Given the description of an element on the screen output the (x, y) to click on. 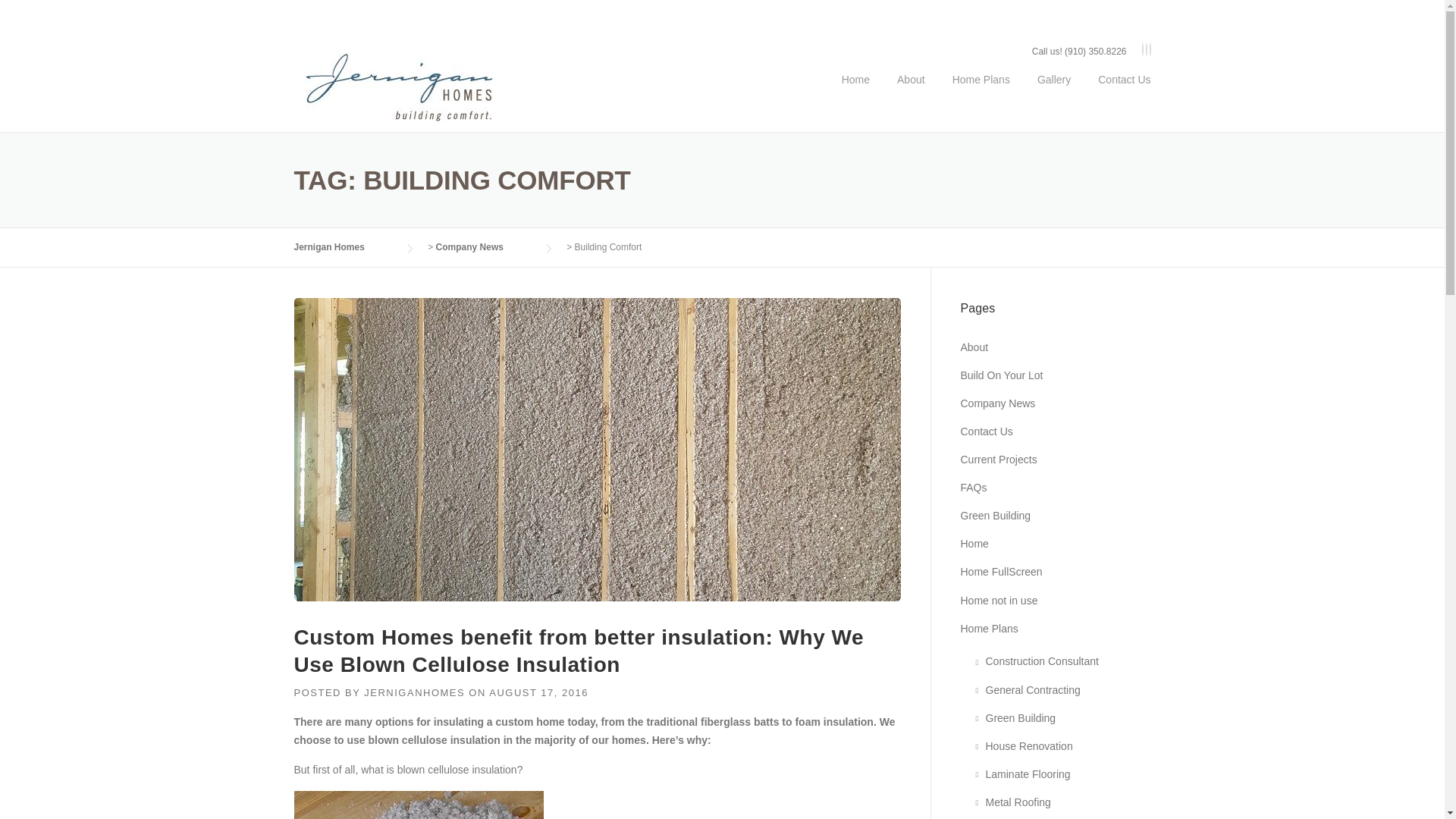
FAQs (973, 487)
Build On Your Lot (1000, 375)
Home FullScreen (1000, 571)
JERNIGANHOMES (414, 692)
Home Plans (988, 628)
About (911, 91)
Home not in use (997, 600)
Construction Consultant (1042, 661)
Laminate Flooring (1027, 774)
